Given the description of an element on the screen output the (x, y) to click on. 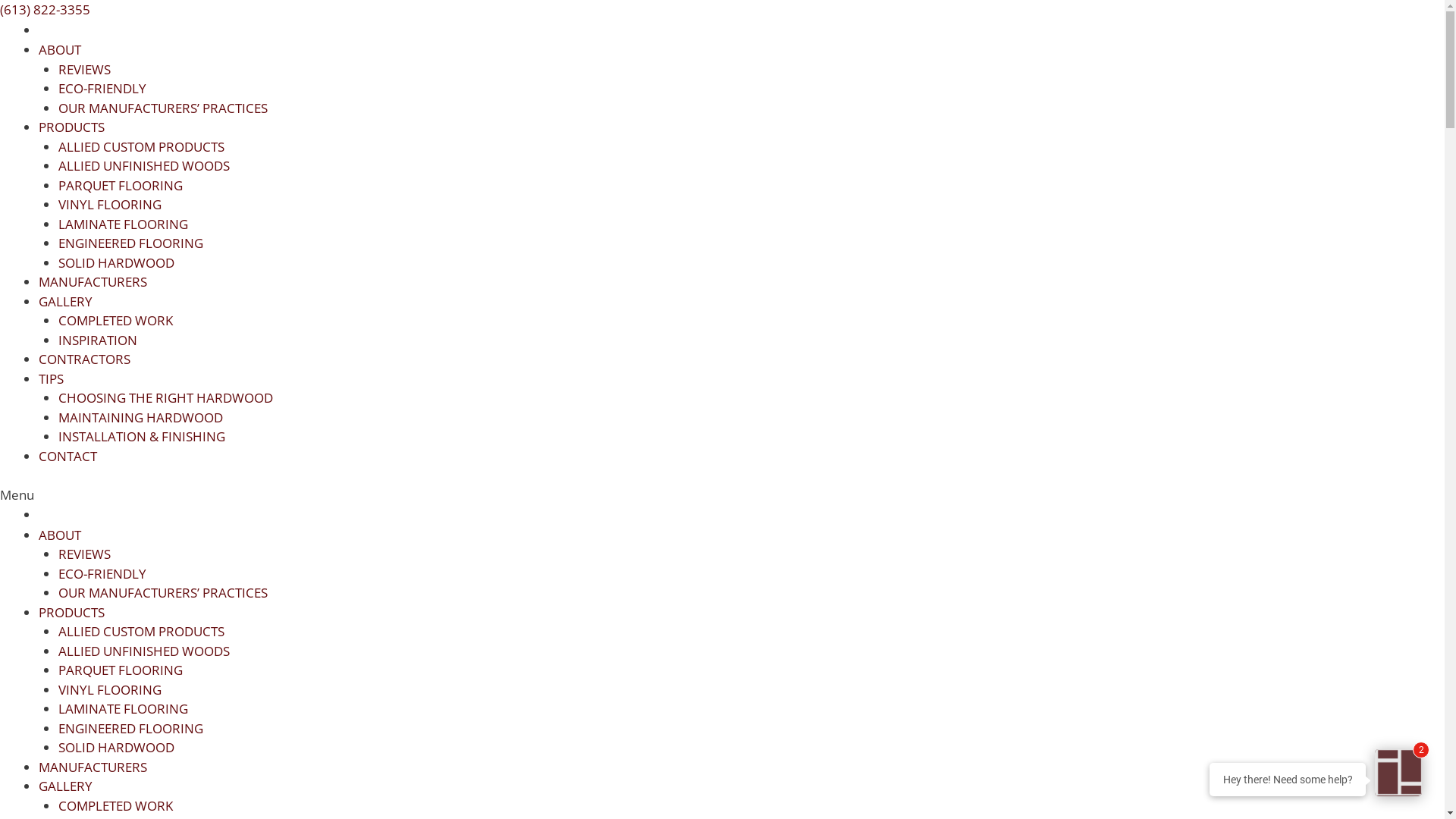
ECO-FRIENDLY Element type: text (101, 88)
MAINTAINING HARDWOOD Element type: text (139, 416)
LAMINATE FLOORING Element type: text (122, 223)
INSTALLATION & FINISHING Element type: text (140, 436)
ALLIED UNFINISHED WOODS Element type: text (143, 165)
GALLERY Element type: text (65, 785)
GALLERY Element type: text (65, 301)
VINYL FLOORING Element type: text (108, 204)
ALLIED CUSTOM PRODUCTS Element type: text (140, 146)
COMPLETED WORK Element type: text (114, 804)
PARQUET FLOORING Element type: text (119, 184)
ENGINEERED FLOORING Element type: text (129, 242)
CHOOSING THE RIGHT HARDWOOD Element type: text (164, 397)
COMPLETED WORK Element type: text (114, 320)
ECO-FRIENDLY Element type: text (101, 572)
VINYL FLOORING Element type: text (108, 689)
ALLIED UNFINISHED WOODS Element type: text (143, 649)
CONTRACTORS Element type: text (84, 358)
TIPS Element type: text (50, 378)
REVIEWS Element type: text (83, 69)
PARQUET FLOORING Element type: text (119, 669)
SOLID HARDWOOD Element type: text (115, 261)
PRODUCTS Element type: text (71, 612)
(613) 822-3355 Element type: text (45, 9)
MANUFACTURERS Element type: text (92, 281)
PRODUCTS Element type: text (71, 126)
MANUFACTURERS Element type: text (92, 766)
CONTACT Element type: text (67, 455)
ALLIED CUSTOM PRODUCTS Element type: text (140, 631)
INSPIRATION Element type: text (96, 339)
LAMINATE FLOORING Element type: text (122, 708)
SOLID HARDWOOD Element type: text (115, 747)
REVIEWS Element type: text (83, 553)
ABOUT Element type: text (59, 49)
ABOUT Element type: text (59, 534)
ENGINEERED FLOORING Element type: text (129, 727)
Hey there! Need some help?
2 Element type: text (1397, 772)
